Given the description of an element on the screen output the (x, y) to click on. 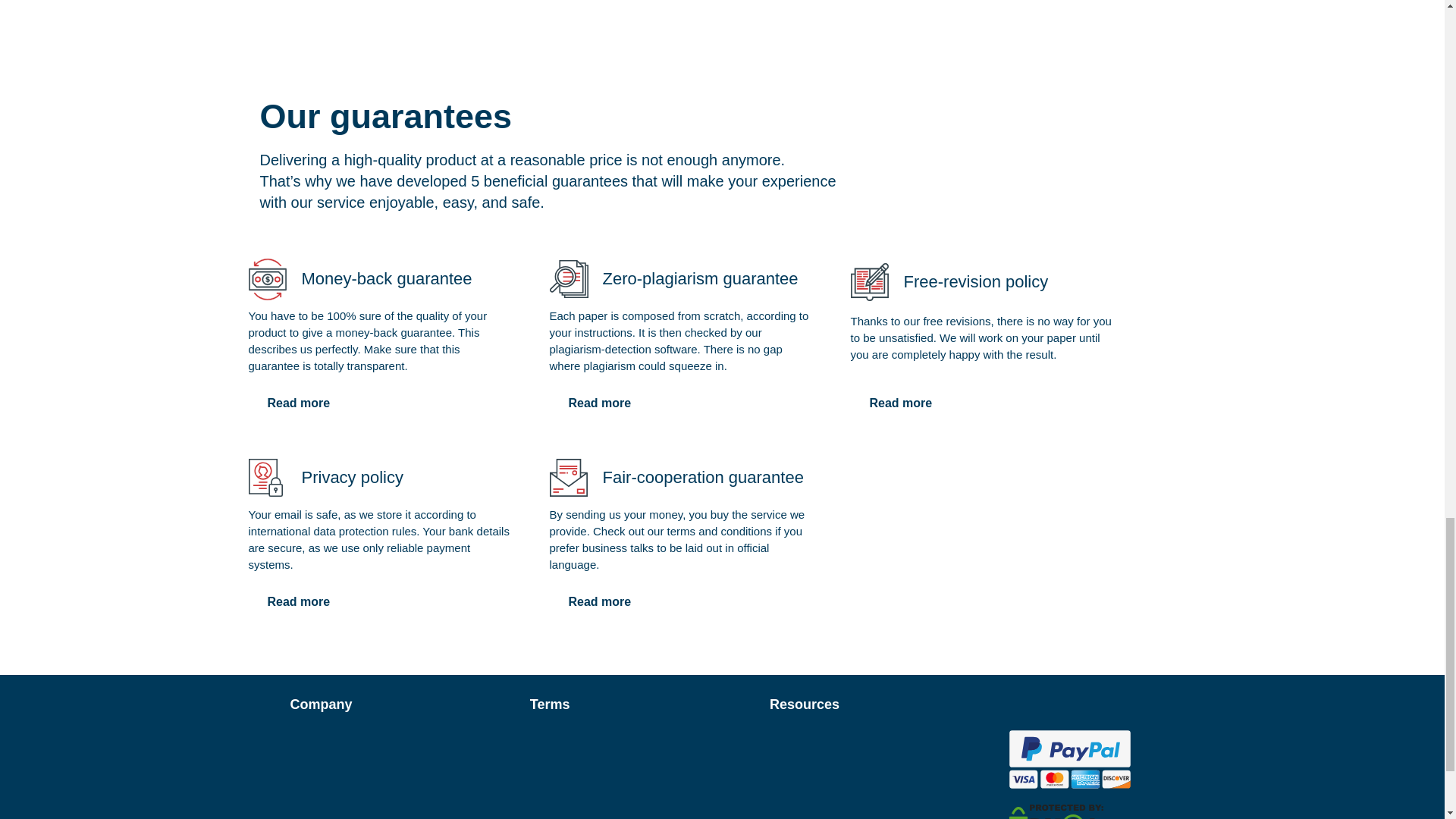
Read more (298, 602)
Read more (598, 403)
Read more (298, 403)
Read more (901, 403)
Read more (598, 602)
